Given the description of an element on the screen output the (x, y) to click on. 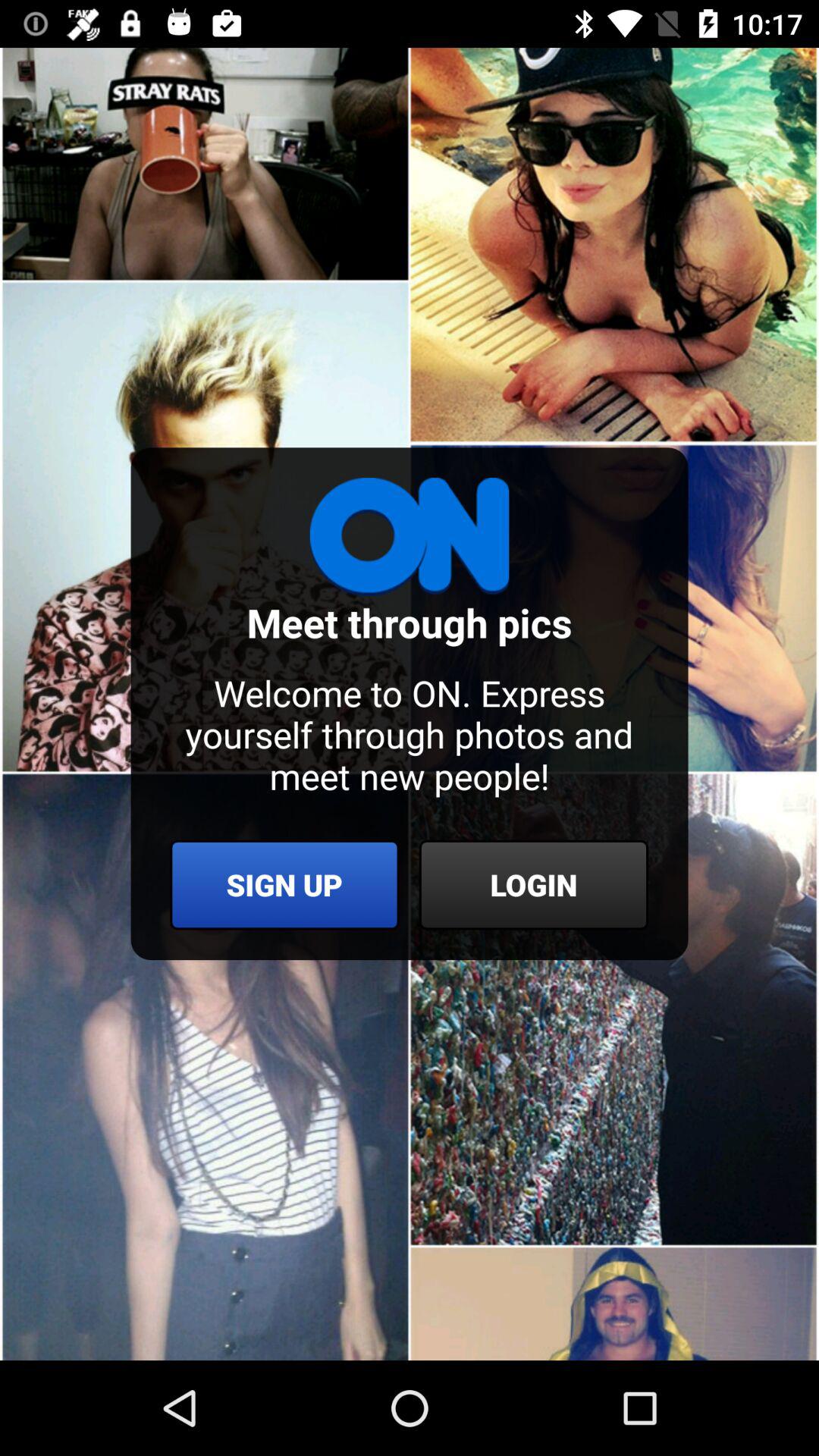
launch item below welcome to on item (533, 884)
